Given the description of an element on the screen output the (x, y) to click on. 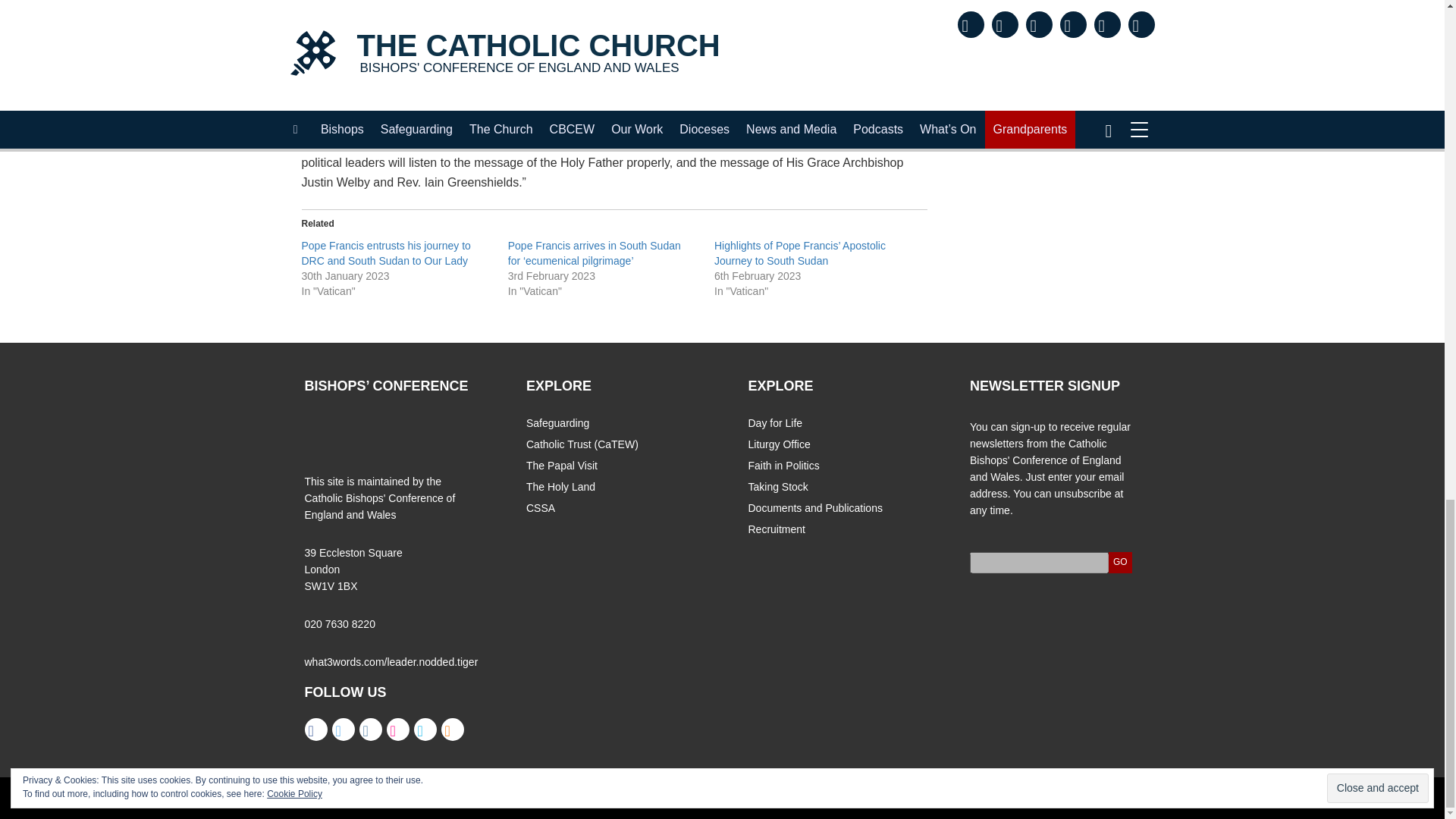
Go (1120, 562)
